Given the description of an element on the screen output the (x, y) to click on. 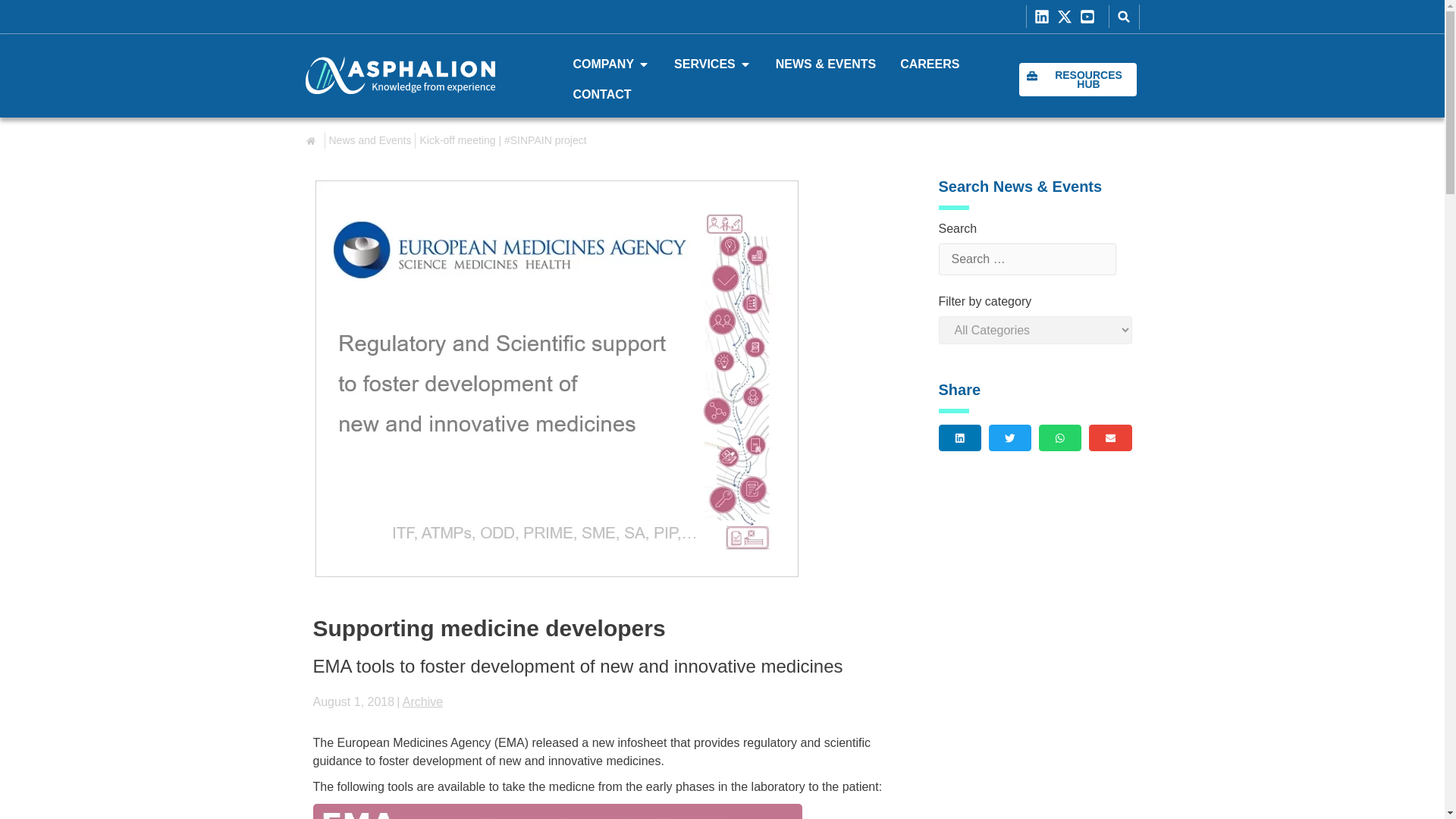
Go to Youtube (1091, 16)
Go to Homepage (399, 75)
Supporting medicine developers 1 (557, 811)
Go to LinkedIn (1045, 16)
Go to Twitter (1068, 16)
